Given the description of an element on the screen output the (x, y) to click on. 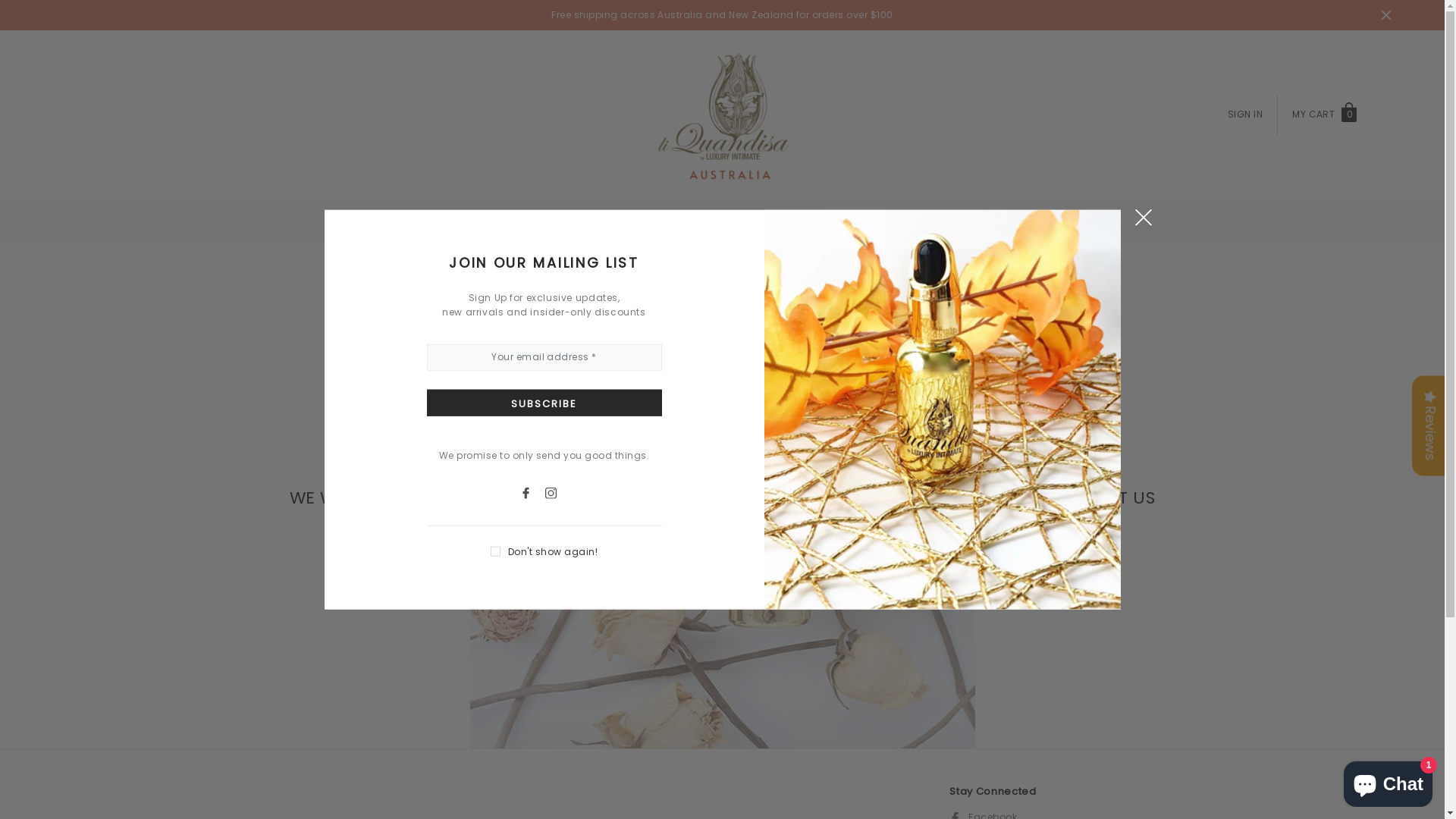
Facebook Element type: hover (532, 491)
CONTACT US Element type: text (787, 221)
SHOP Element type: text (698, 221)
RETURN TO STORE Element type: text (721, 570)
Instagram Element type: hover (556, 491)
SIGN IN Element type: text (1244, 113)
Subscribe Element type: text (543, 402)
HOME Element type: text (633, 221)
MY CART
0 Element type: text (1325, 115)
